Given the description of an element on the screen output the (x, y) to click on. 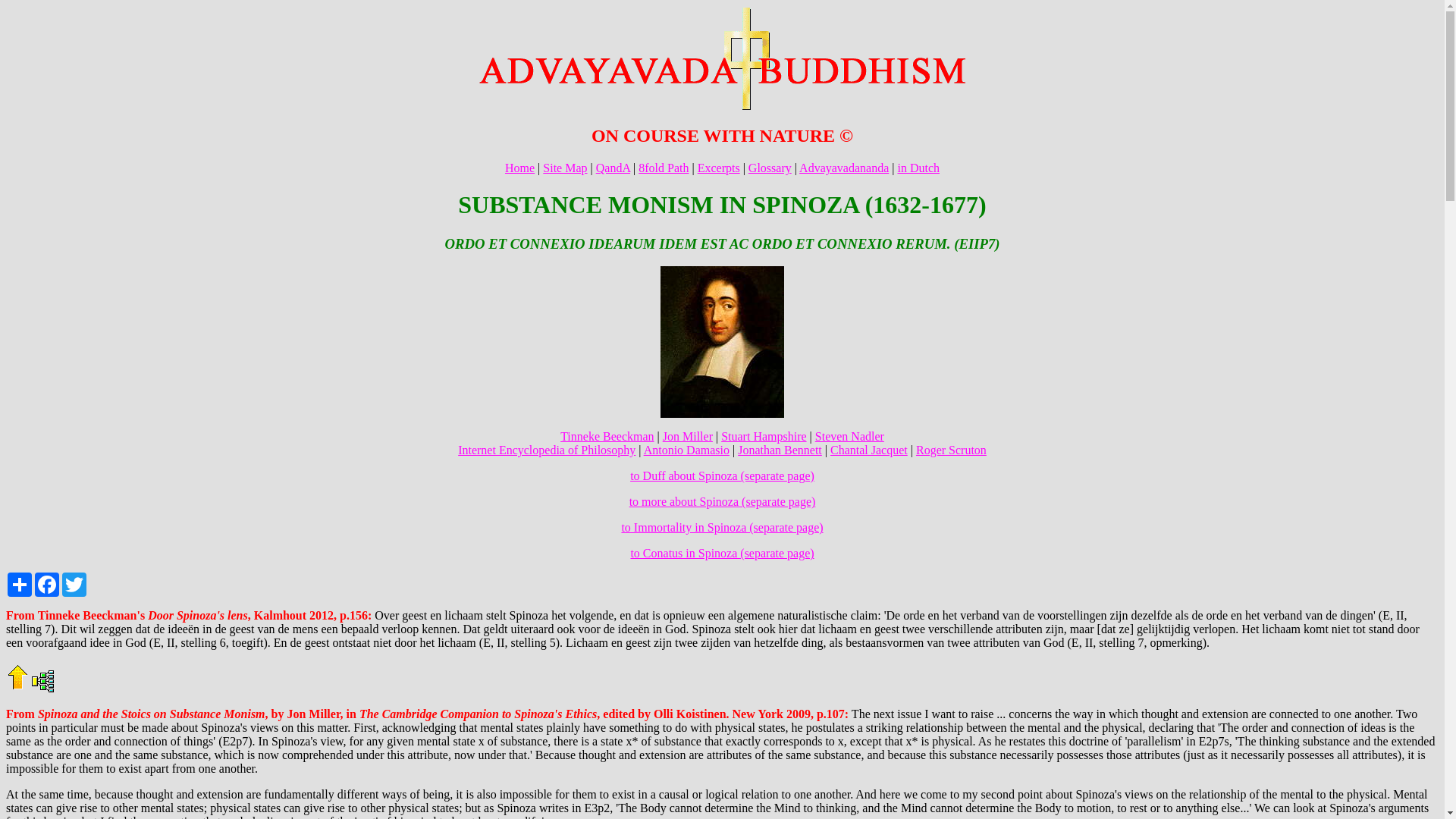
Jon Miller (687, 436)
Facebook (47, 584)
Glossary (770, 167)
Tinneke Beeckman (606, 436)
Jonathan Bennett (780, 449)
Chantal Jacquet (868, 449)
Twitter (74, 584)
Antonio Damasio (686, 449)
From Spinoza and the Stoics on Substance Monism (134, 713)
Internet Encyclopedia of Philosophy (546, 449)
8fold Path (663, 167)
Stuart Hampshire (763, 436)
Home (519, 167)
Steven Nadler (849, 436)
Advayavadananda (843, 167)
